Given the description of an element on the screen output the (x, y) to click on. 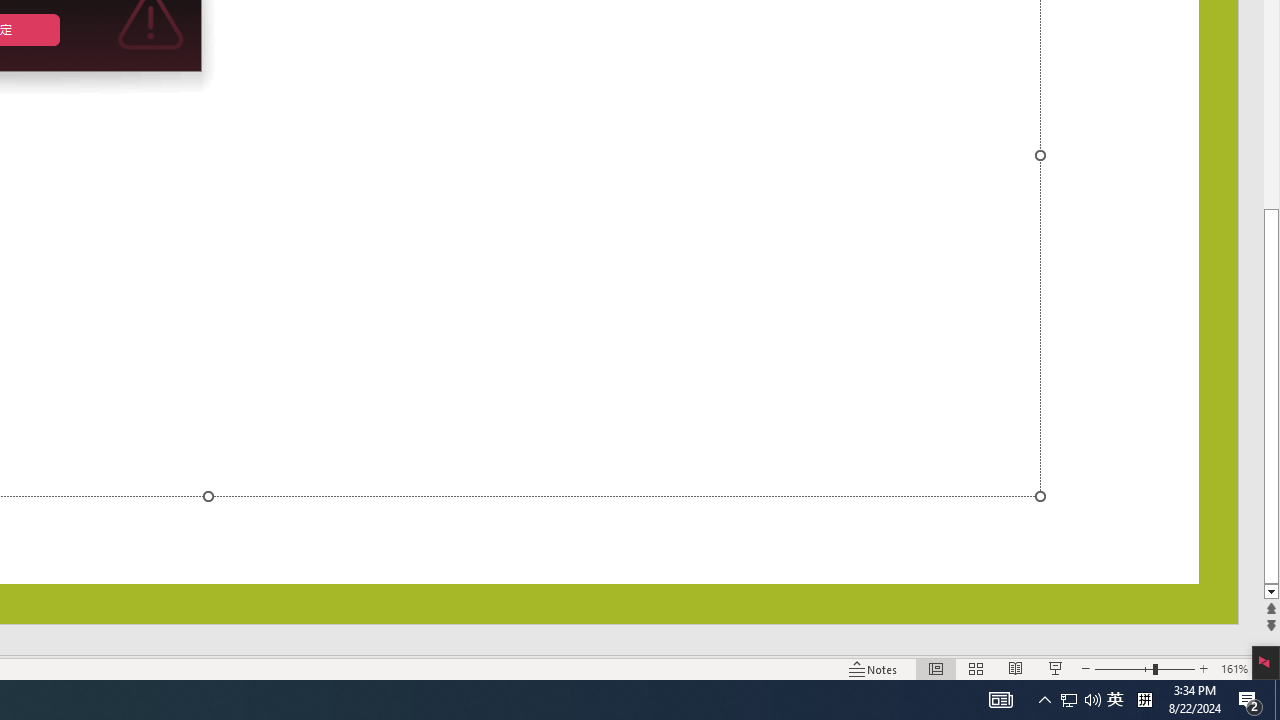
Zoom 161% (1234, 668)
